Given the description of an element on the screen output the (x, y) to click on. 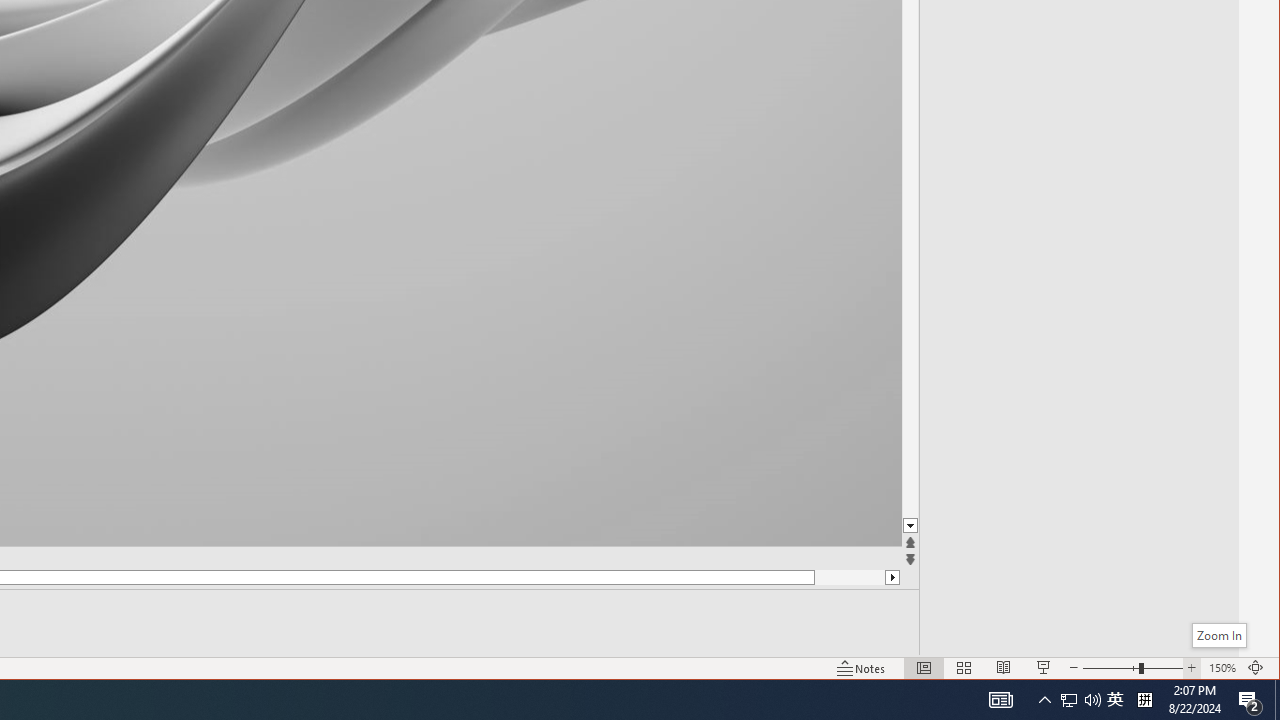
Zoom 150% (1222, 668)
